Given the description of an element on the screen output the (x, y) to click on. 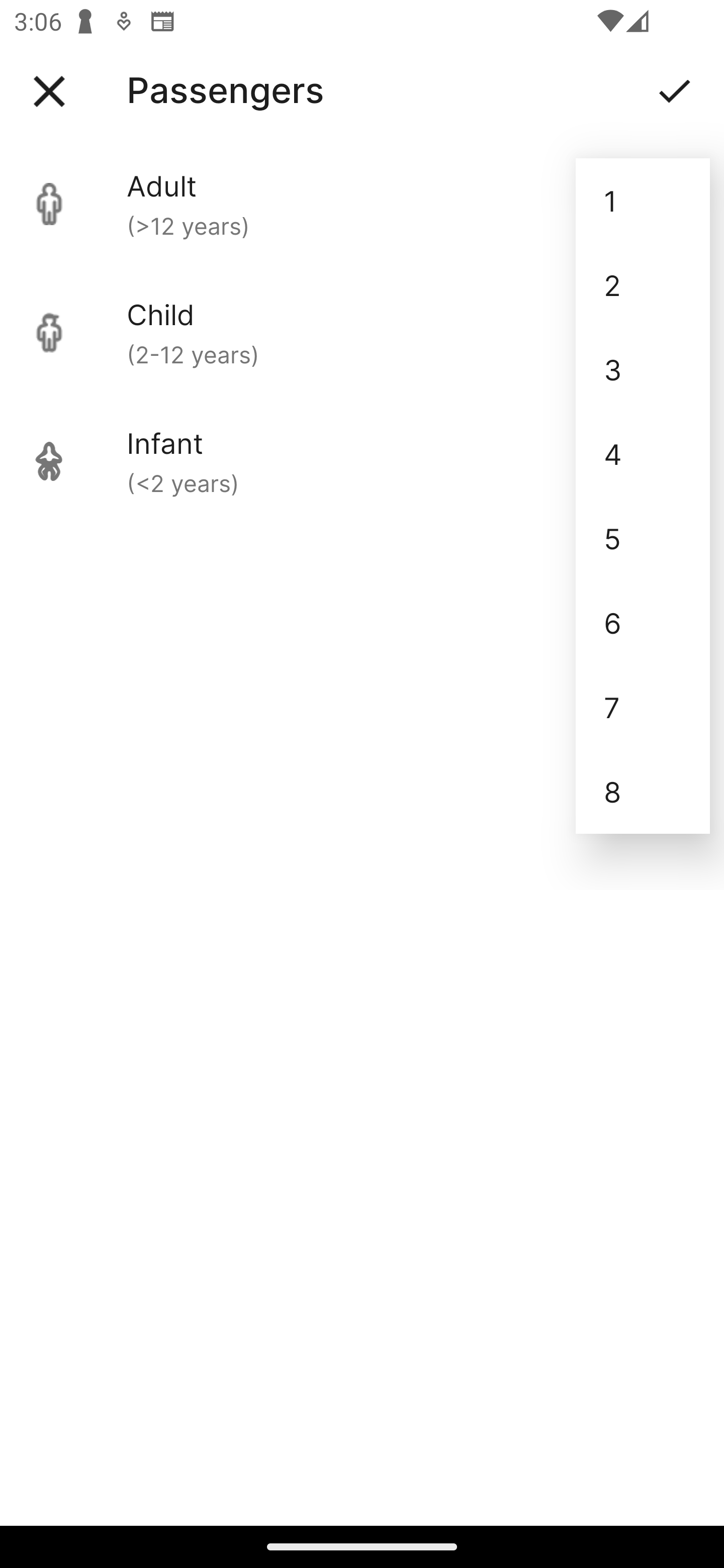
1 (642, 200)
2 (642, 285)
3 (642, 368)
4 (642, 452)
5 (642, 537)
6 (642, 622)
7 (642, 706)
8 (642, 791)
